Given the description of an element on the screen output the (x, y) to click on. 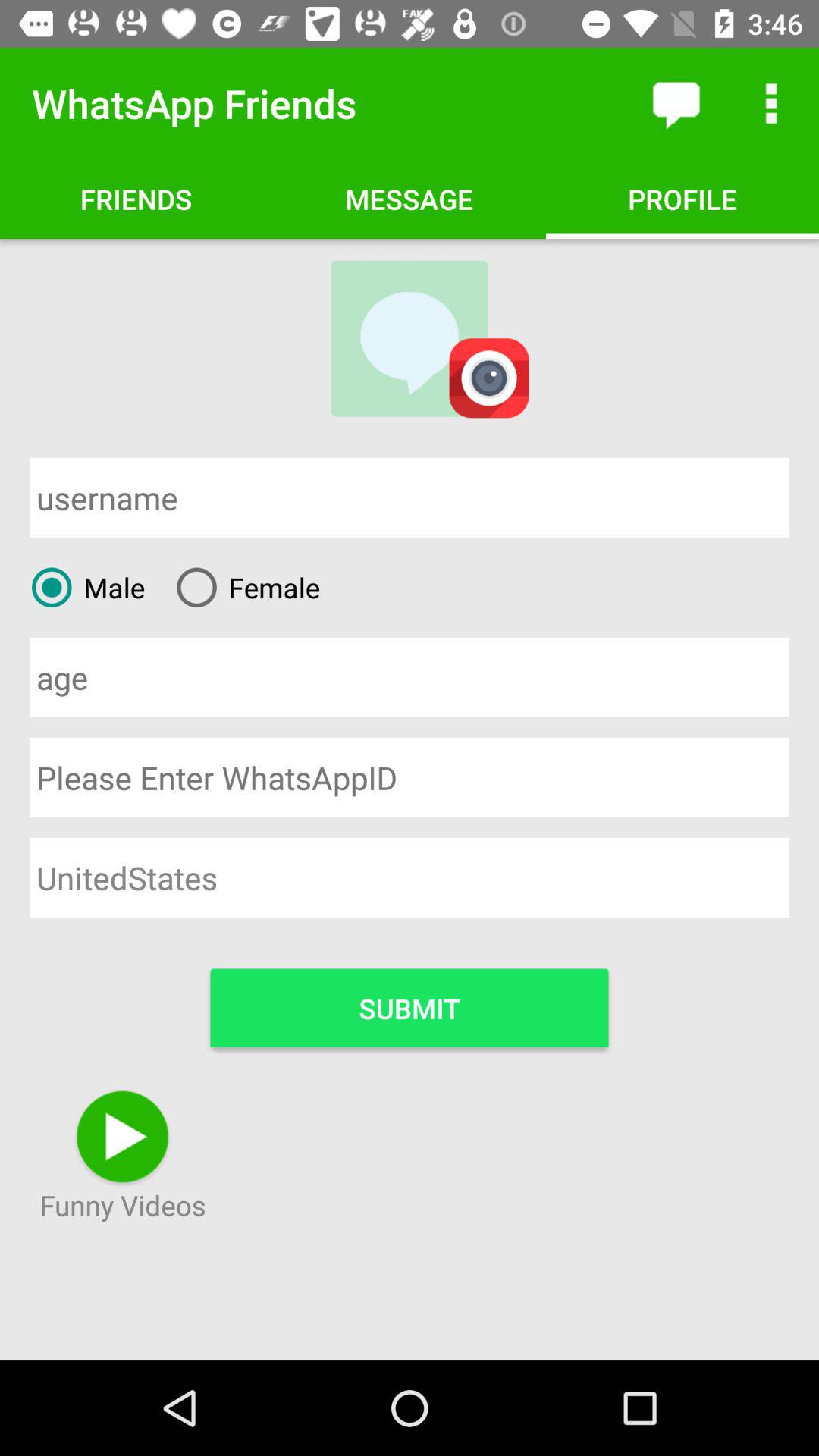
open the icon above profile item (675, 103)
